Given the description of an element on the screen output the (x, y) to click on. 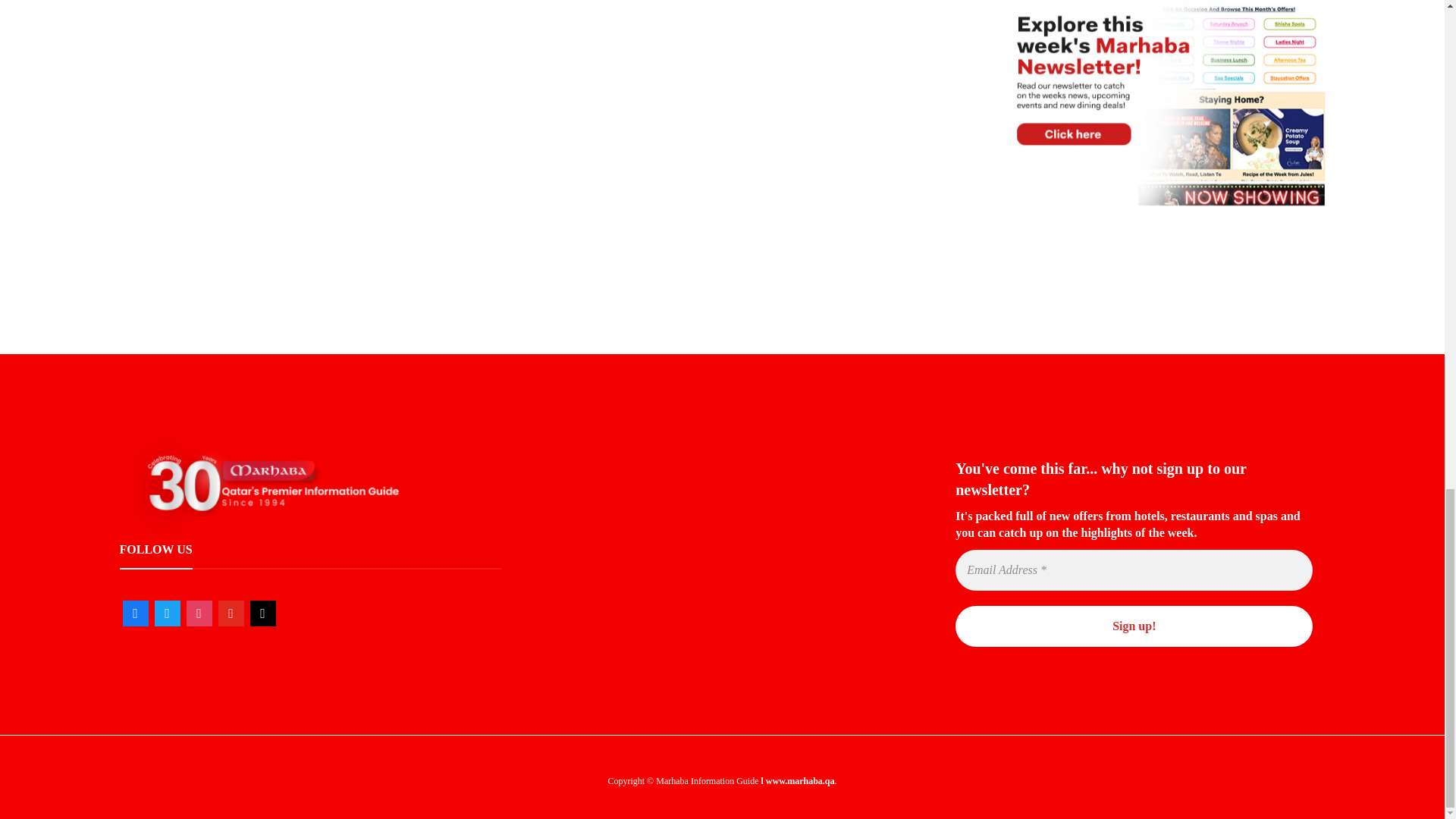
Twitter (167, 613)
Facebook (135, 613)
Instagram (199, 613)
Sign up! (1134, 626)
Email Address (1134, 569)
